Given the description of an element on the screen output the (x, y) to click on. 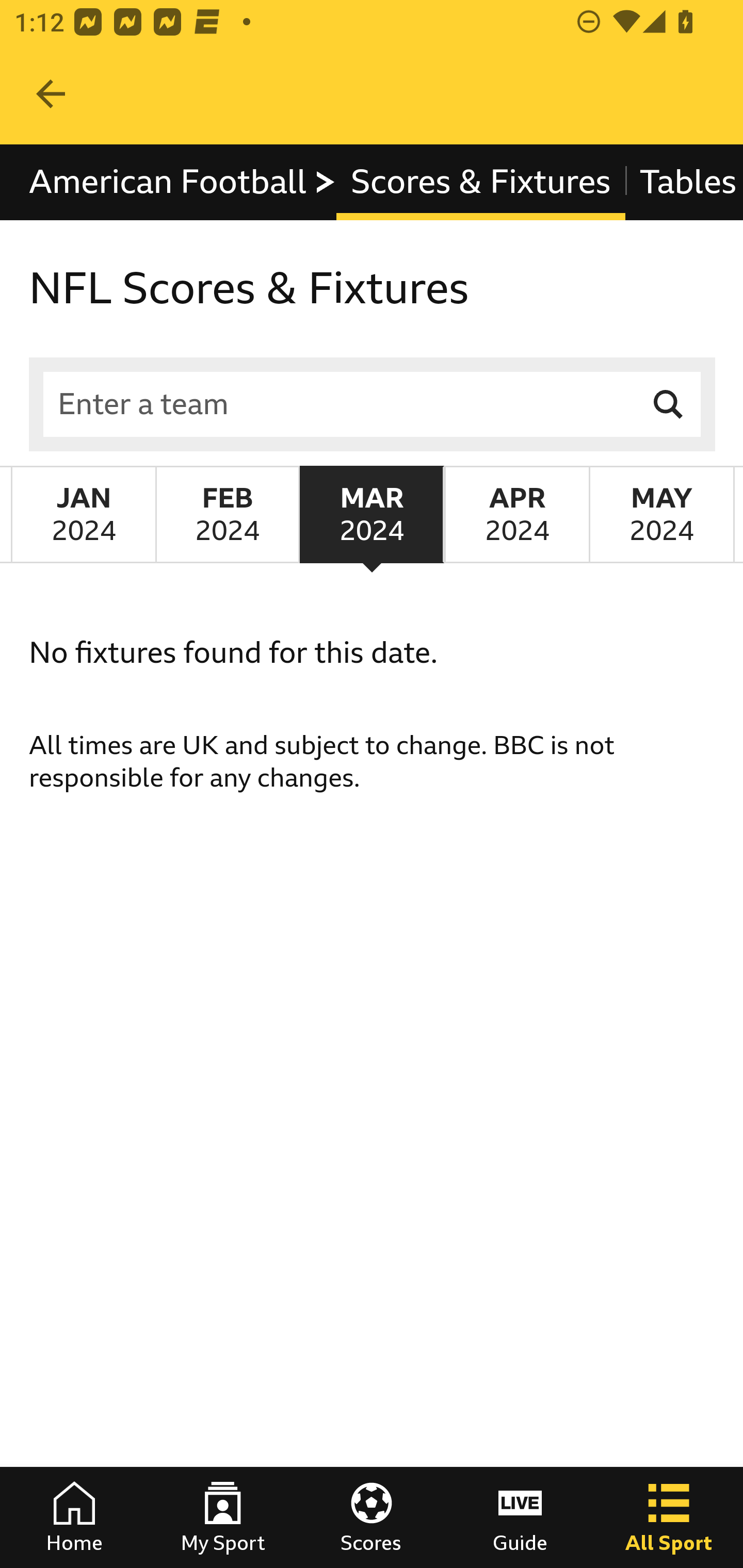
Navigate up (50, 93)
American Football  (182, 181)
Scores & Fixtures (480, 181)
Tables (683, 181)
Search (669, 404)
January2024 January 2024 (83, 513)
February2024 February 2024 (227, 513)
March2024, Selected March 2024 , Selected (371, 513)
April2024 April 2024 (516, 513)
May2024 May 2024 (661, 513)
Home (74, 1517)
My Sport (222, 1517)
Scores (371, 1517)
Guide (519, 1517)
